Given the description of an element on the screen output the (x, y) to click on. 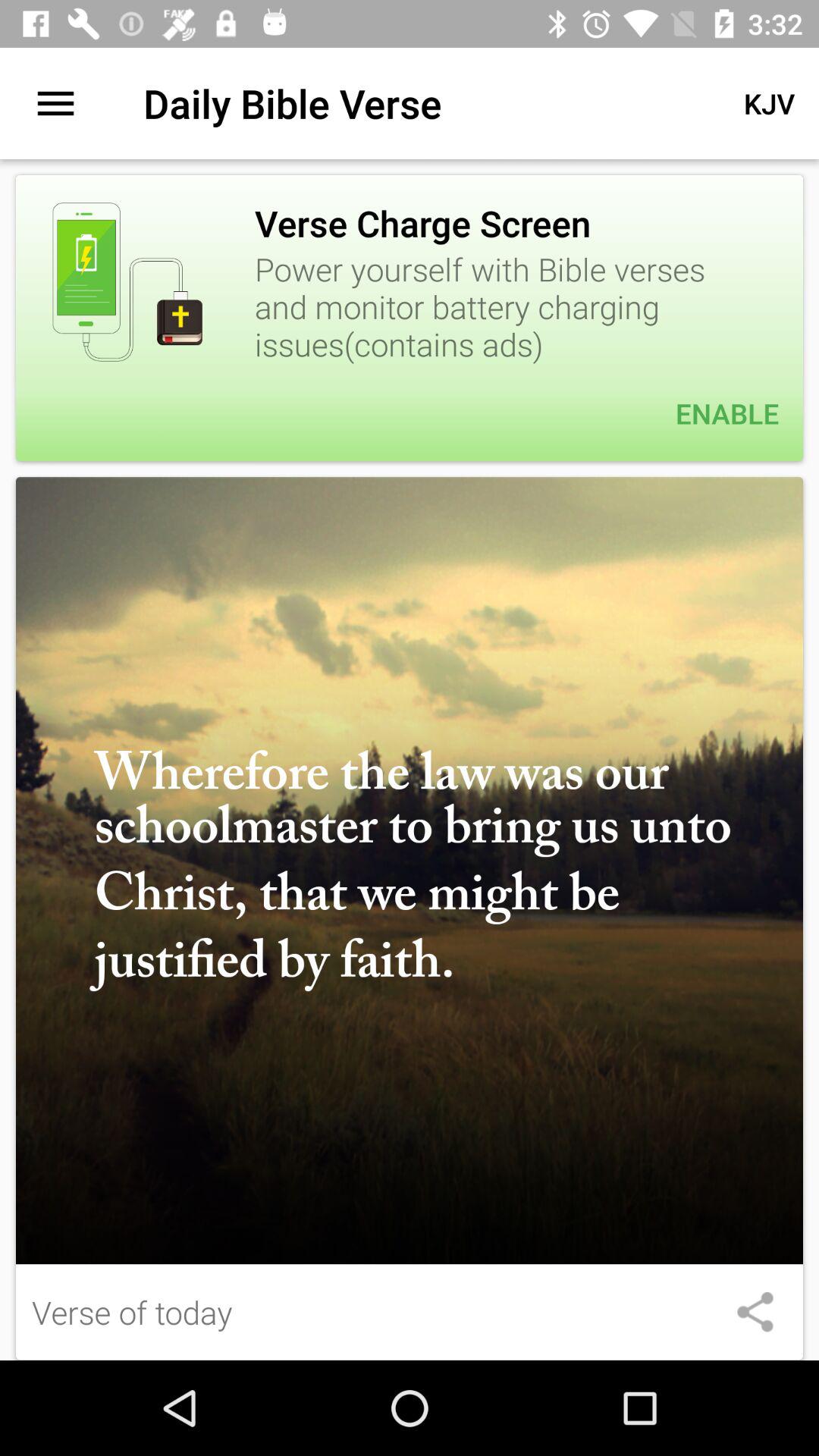
tap app next to the daily bible verse app (769, 103)
